Given the description of an element on the screen output the (x, y) to click on. 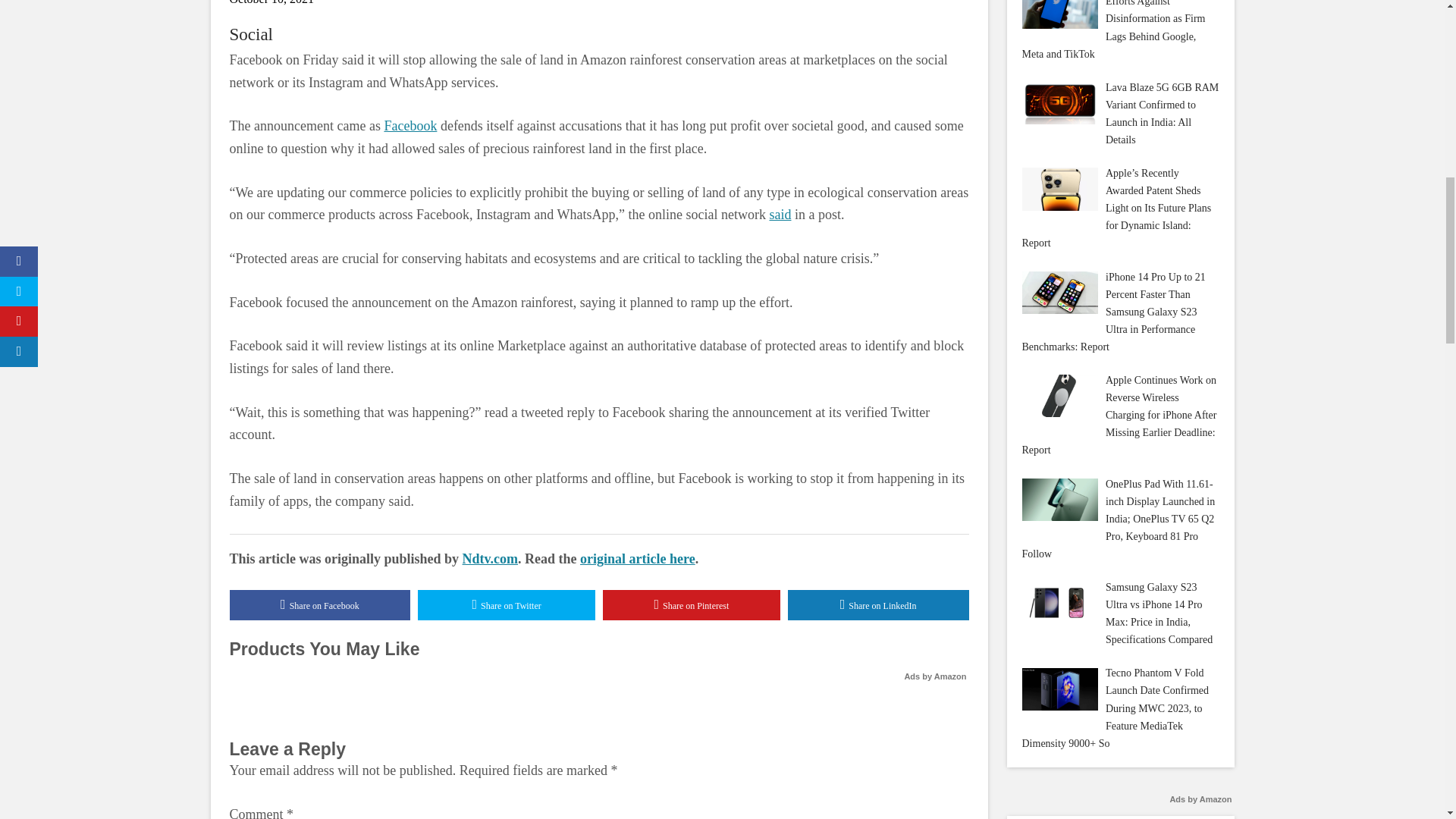
Social (250, 34)
